Given the description of an element on the screen output the (x, y) to click on. 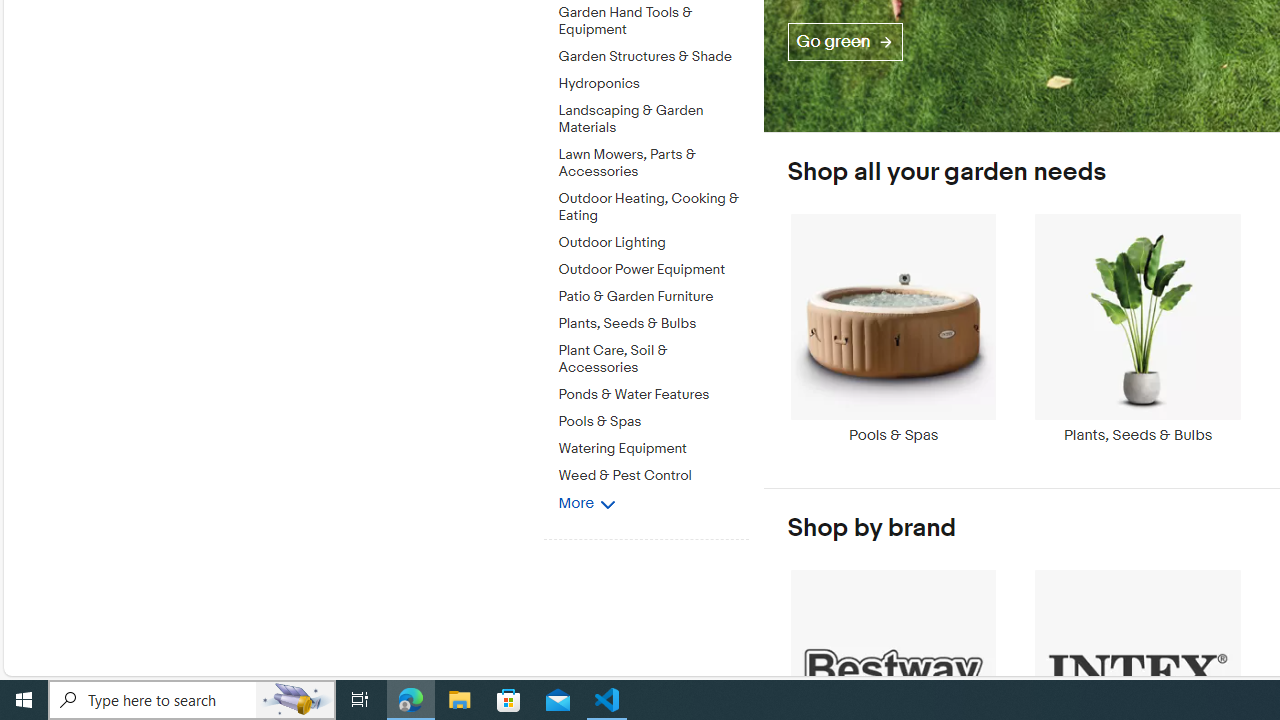
Garden Structures & Shade (653, 53)
Plant Care, Soil & Accessories (653, 360)
Plants, Seeds & Bulbs (1137, 328)
Outdoor Lighting (653, 243)
Patio & Garden Furniture (653, 293)
Ponds & Water Features (653, 391)
Garden Hand Tools & Equipment (653, 22)
Hydroponics (653, 80)
Outdoor Power Equipment (653, 266)
Pools & Spas (893, 338)
Go green (845, 41)
Landscaping & Garden Materials (653, 120)
Plants, Seeds & Bulbs (1137, 338)
Patio & Garden Furniture (653, 297)
Landscaping & Garden Materials (653, 116)
